Given the description of an element on the screen output the (x, y) to click on. 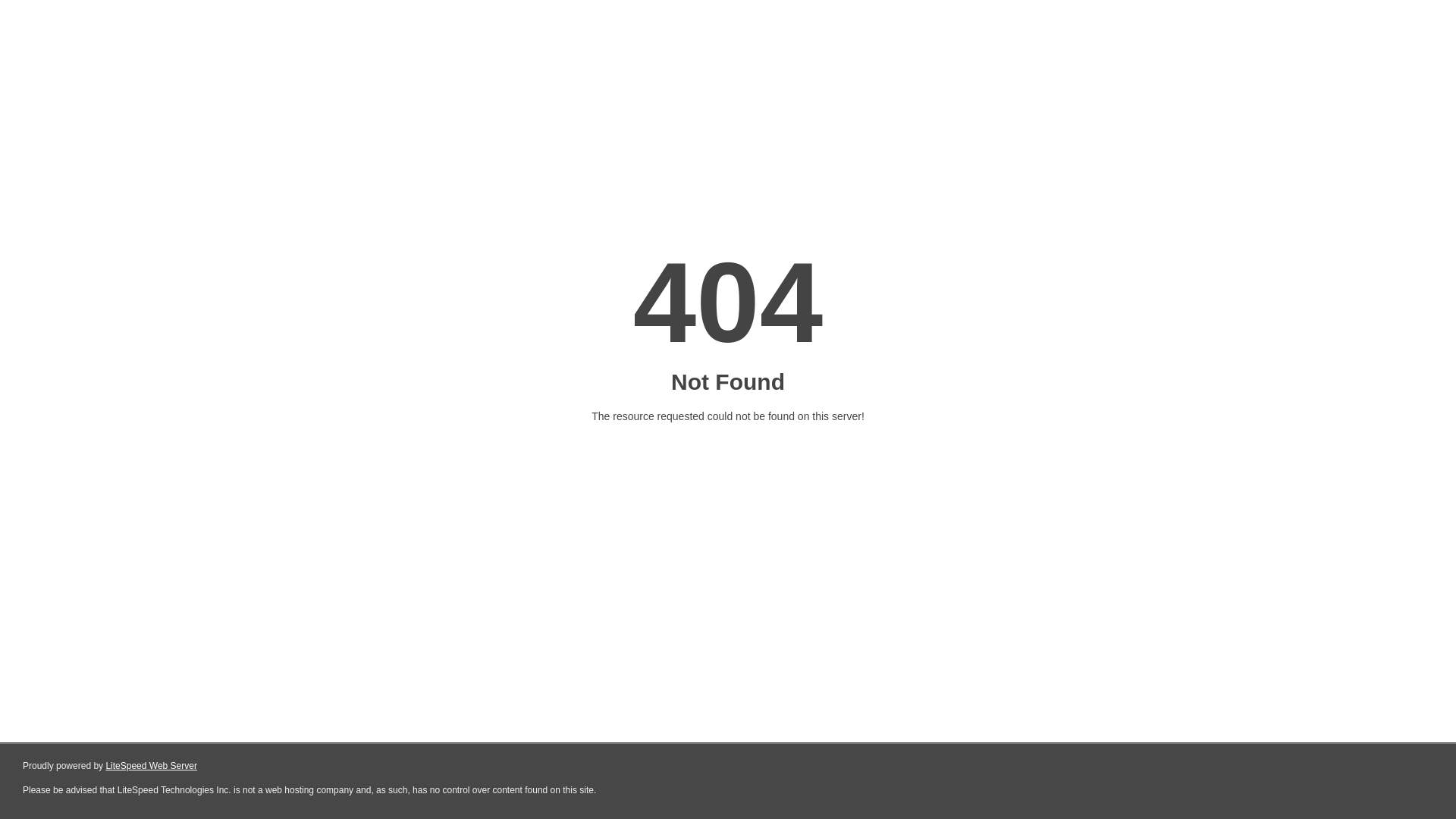
LiteSpeed Web Server Element type: text (151, 765)
